Given the description of an element on the screen output the (x, y) to click on. 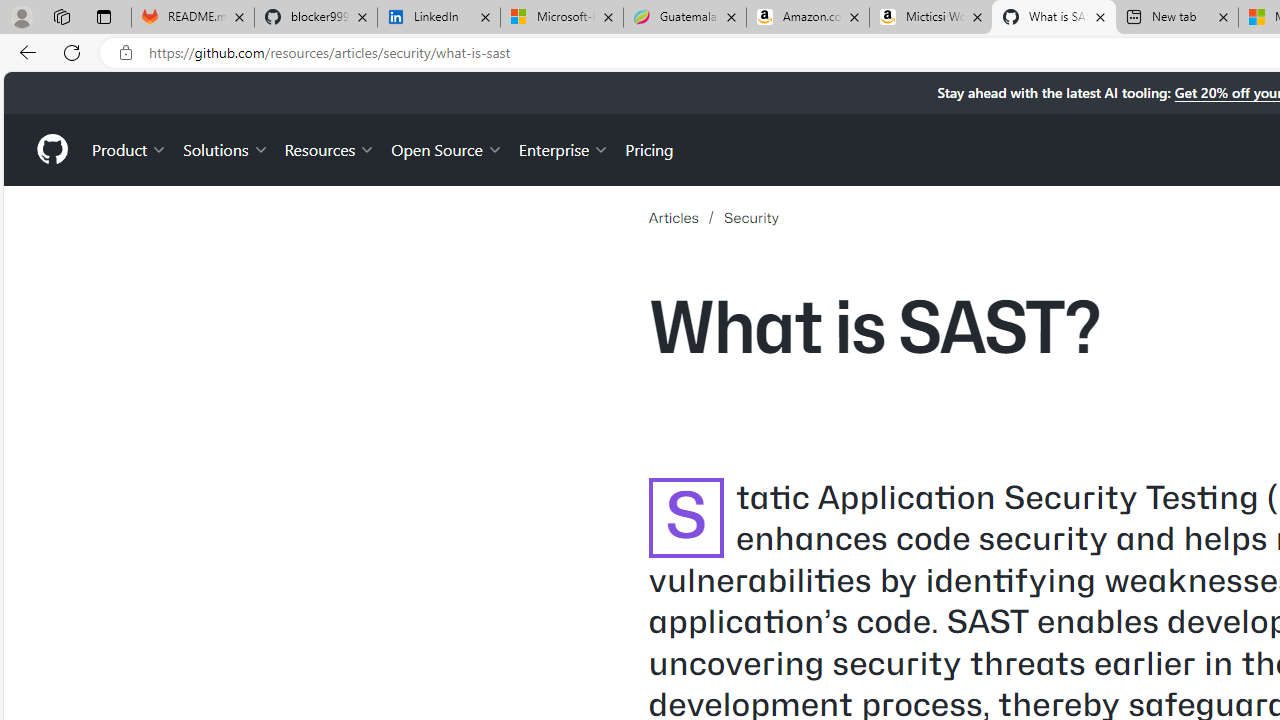
Enterprise (563, 148)
Solutions (225, 148)
Security (751, 217)
Product (130, 148)
Open Source (446, 148)
LinkedIn (438, 17)
Articles (685, 217)
Pricing (649, 148)
